Given the description of an element on the screen output the (x, y) to click on. 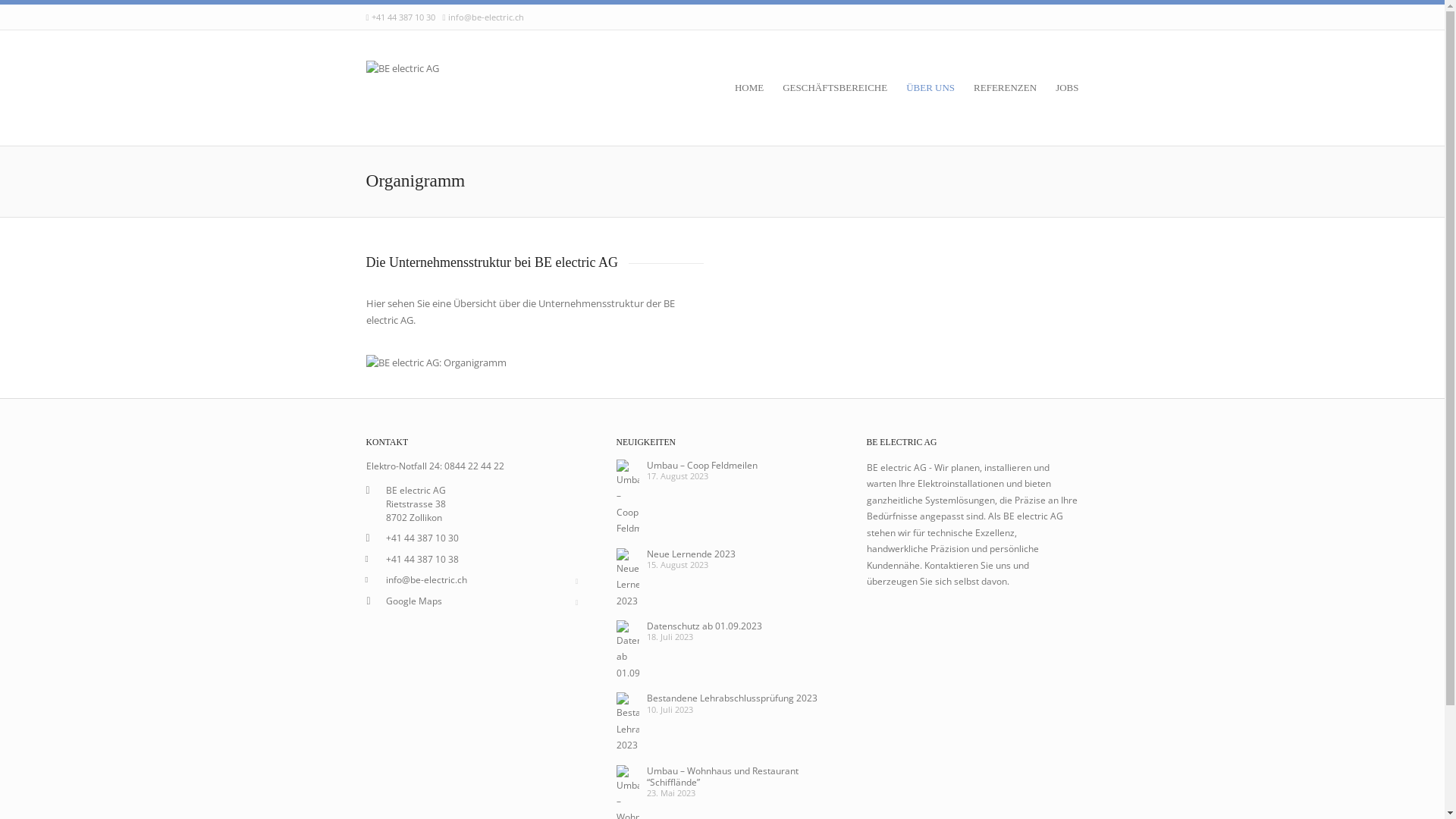
BE electric AG Element type: hover (401, 87)
Neue Lernende 2023 Element type: text (690, 553)
HOME Element type: text (756, 87)
+41 44 387 10 30 Element type: text (403, 16)
info@be-electric.ch Element type: text (425, 579)
Datenschutz ab 01.09.2023 Element type: text (703, 625)
JOBS Element type: text (1066, 87)
info@be-electric.ch Element type: text (486, 16)
Google Maps Element type: text (413, 600)
REFERENZEN Element type: text (1012, 87)
